Given the description of an element on the screen output the (x, y) to click on. 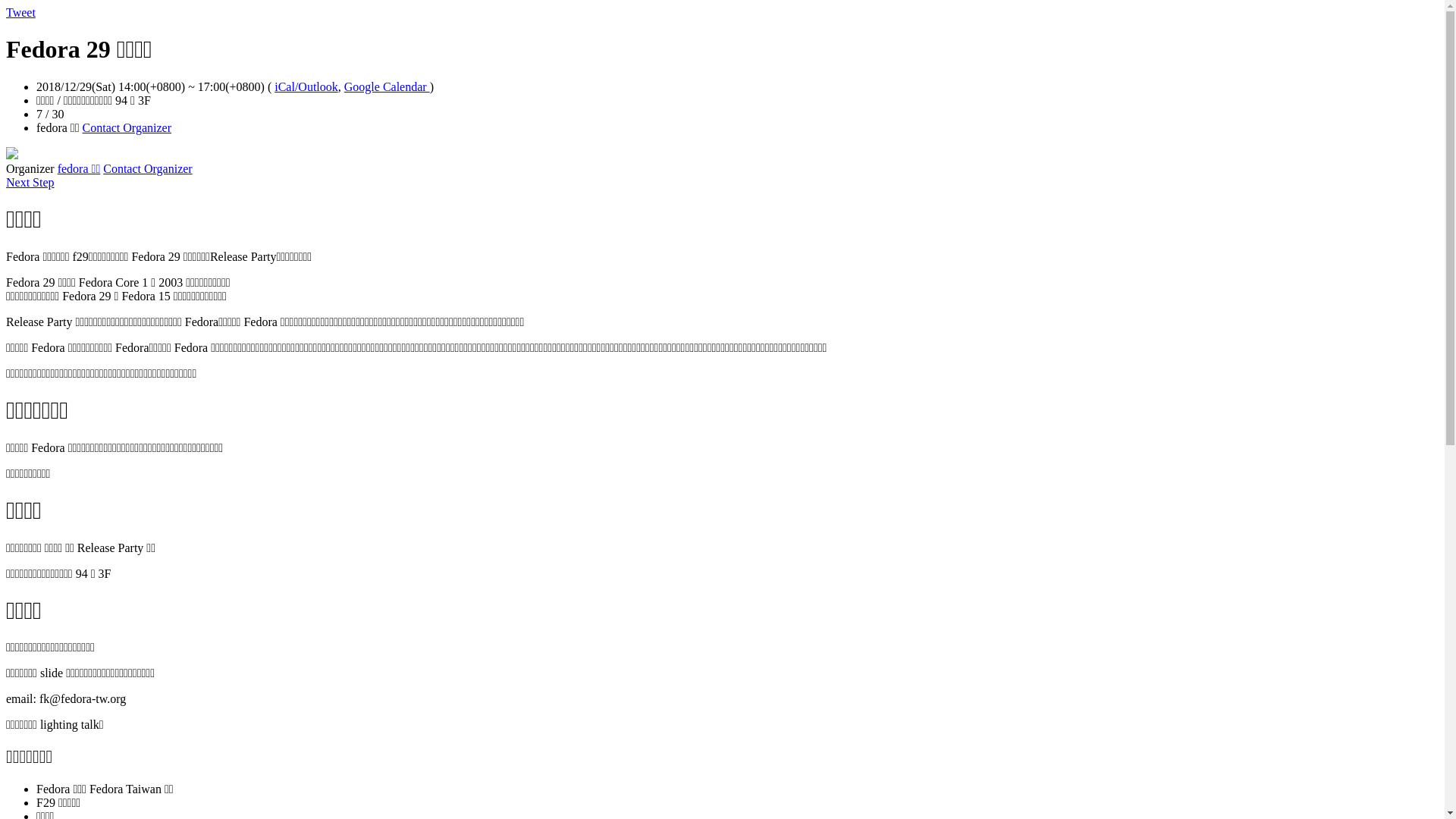
Tweet Element type: text (20, 12)
Contact Organizer Element type: text (126, 127)
Contact Organizer Element type: text (147, 168)
iCal/Outlook Element type: text (306, 86)
Next Step Element type: text (30, 181)
Google Calendar Element type: text (386, 86)
